Given the description of an element on the screen output the (x, y) to click on. 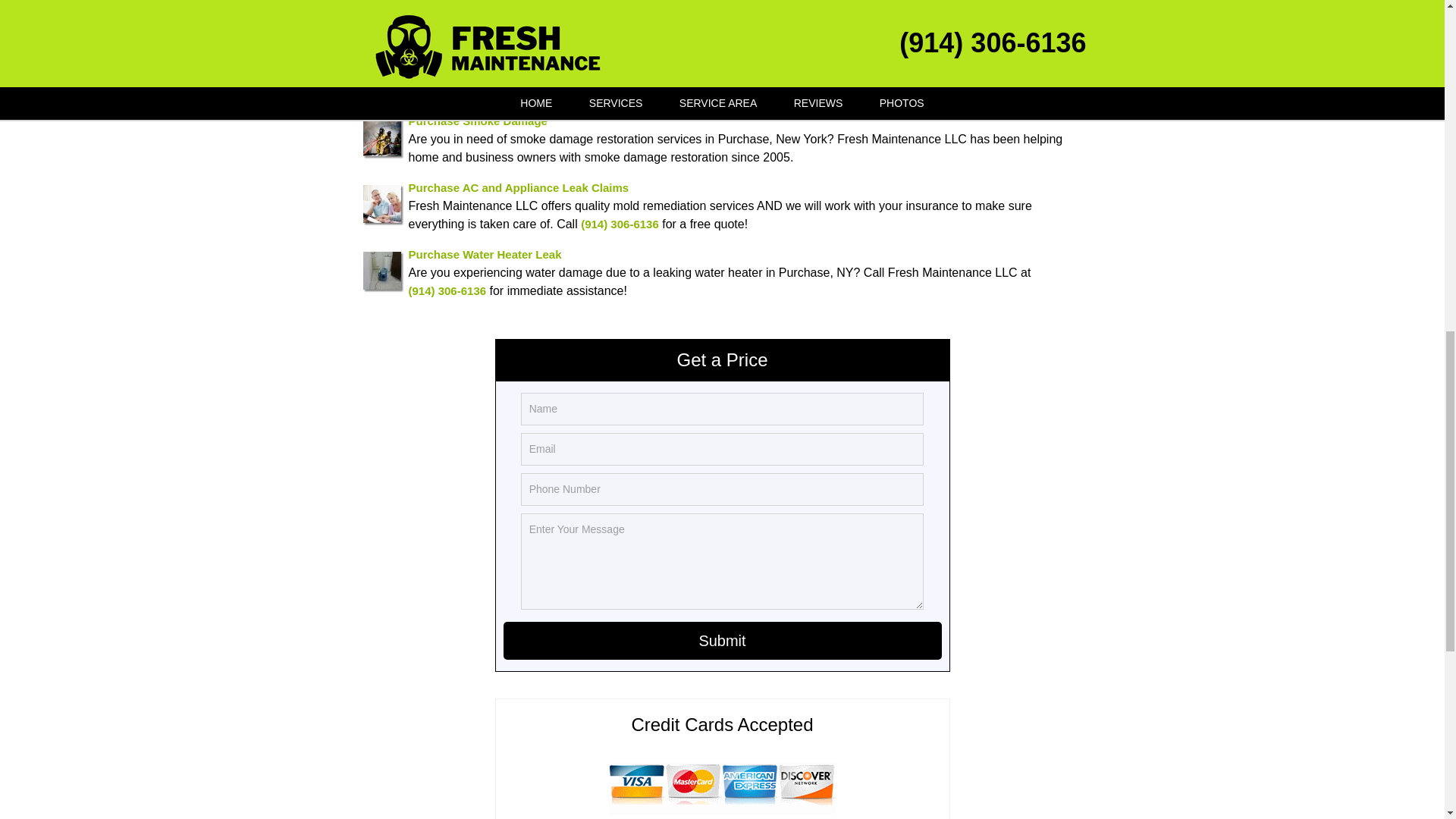
Purchase AC and Appliance Leak Claims (517, 186)
Purchase Sewage Cleanup (480, 52)
Purchase Smoke Damage (477, 119)
